Given the description of an element on the screen output the (x, y) to click on. 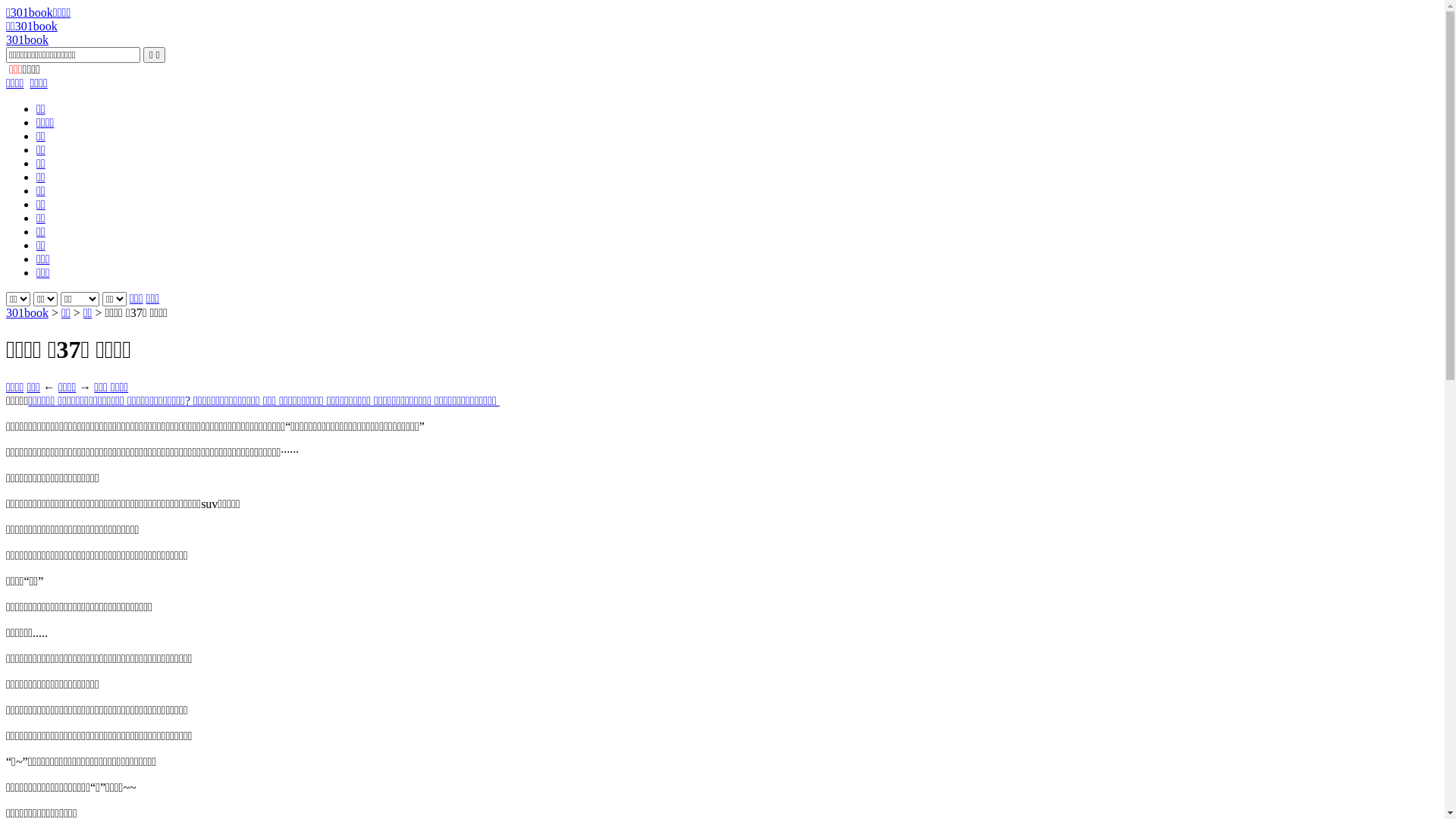
301book Element type: text (27, 312)
301book Element type: text (27, 39)
